Given the description of an element on the screen output the (x, y) to click on. 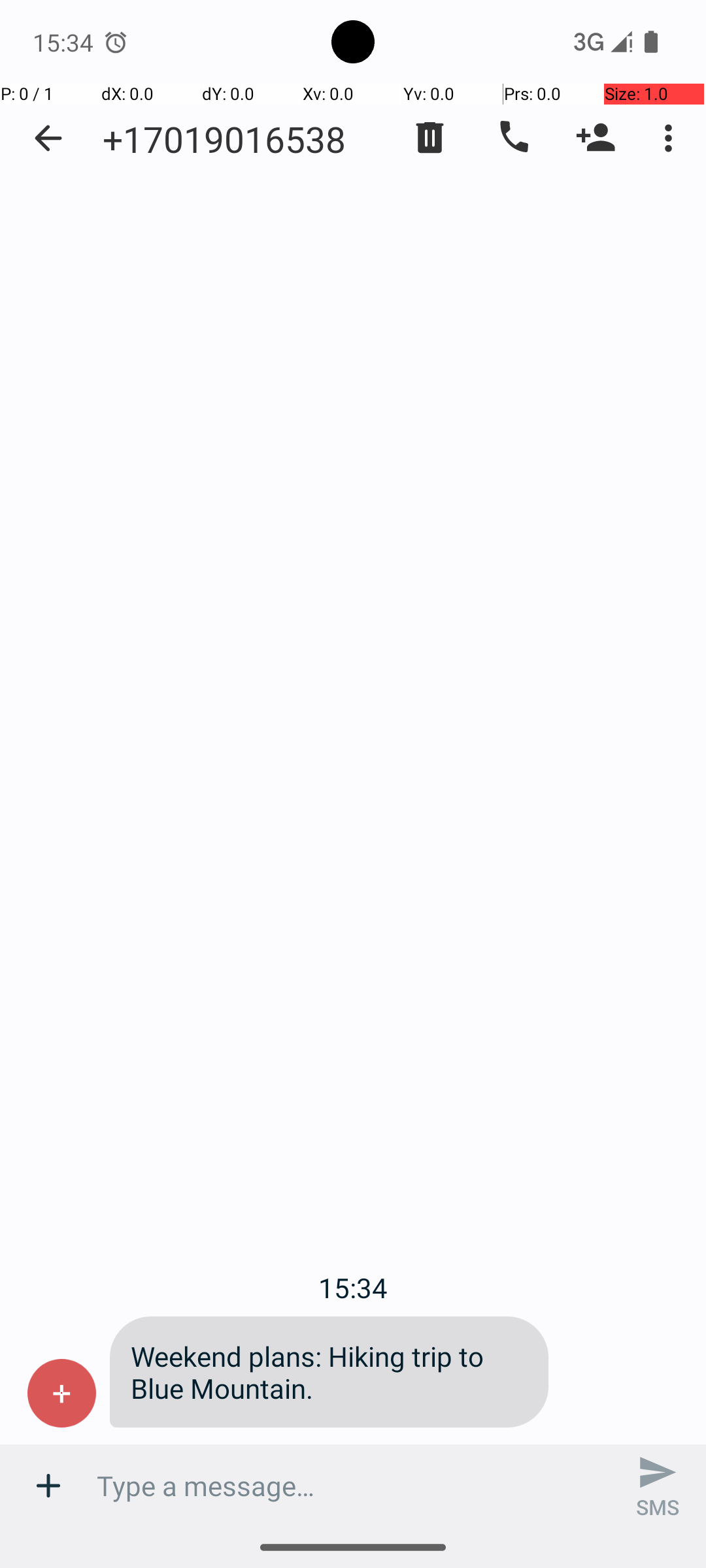
+17019016538 Element type: android.widget.TextView (223, 138)
Weekend plans: Hiking trip to Blue Mountain. Element type: android.widget.TextView (328, 1371)
